Given the description of an element on the screen output the (x, y) to click on. 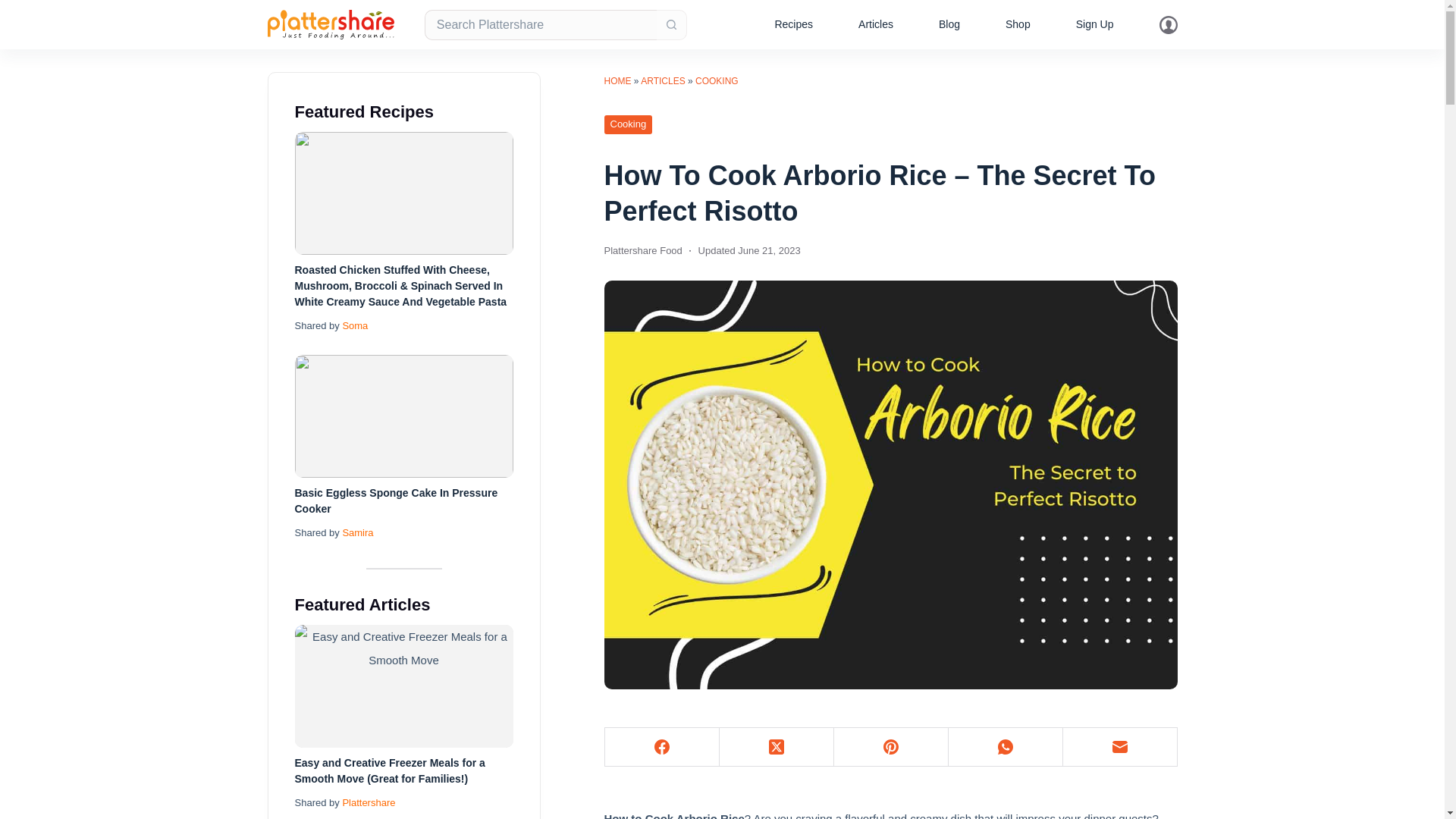
Recipes (793, 24)
Posts by Plattershare Food (642, 250)
HOME (617, 81)
Skip to content (15, 7)
ARTICLES (662, 81)
Sign Up (1094, 24)
Blog (948, 24)
Articles (875, 24)
Cooking (628, 124)
COOKING (716, 81)
Shop (1017, 24)
Plattershare Food (642, 250)
Search for... (540, 24)
